Given the description of an element on the screen output the (x, y) to click on. 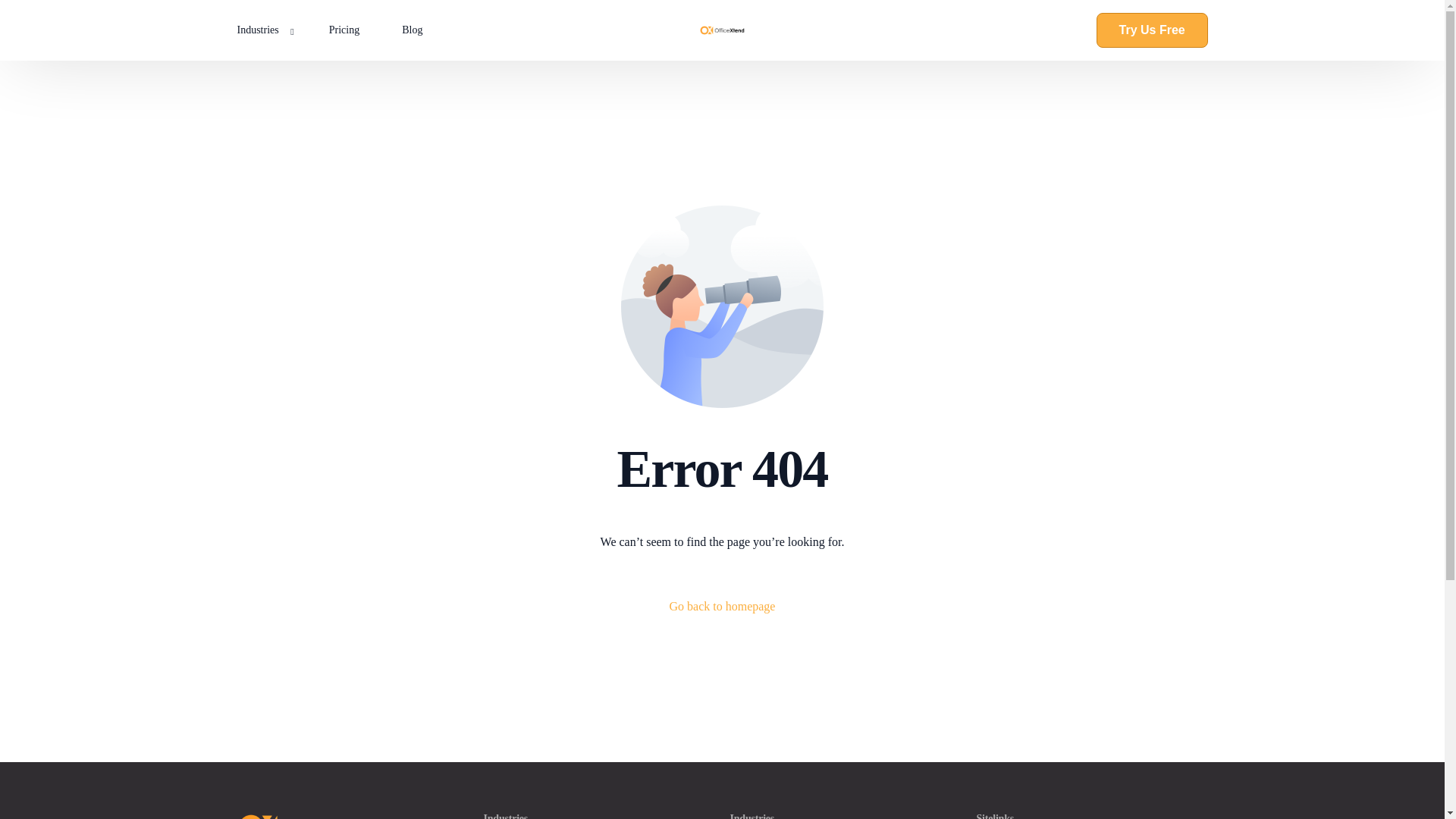
Industries (271, 30)
Pricing (343, 30)
Try Us Free (1152, 30)
Blog (412, 30)
Go back to homepage (722, 607)
